Given the description of an element on the screen output the (x, y) to click on. 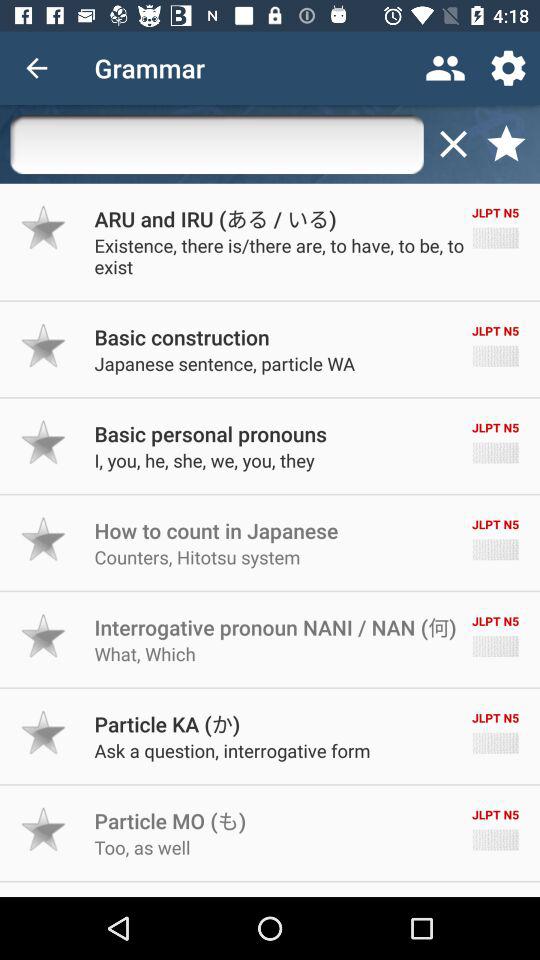
close page (453, 144)
